Given the description of an element on the screen output the (x, y) to click on. 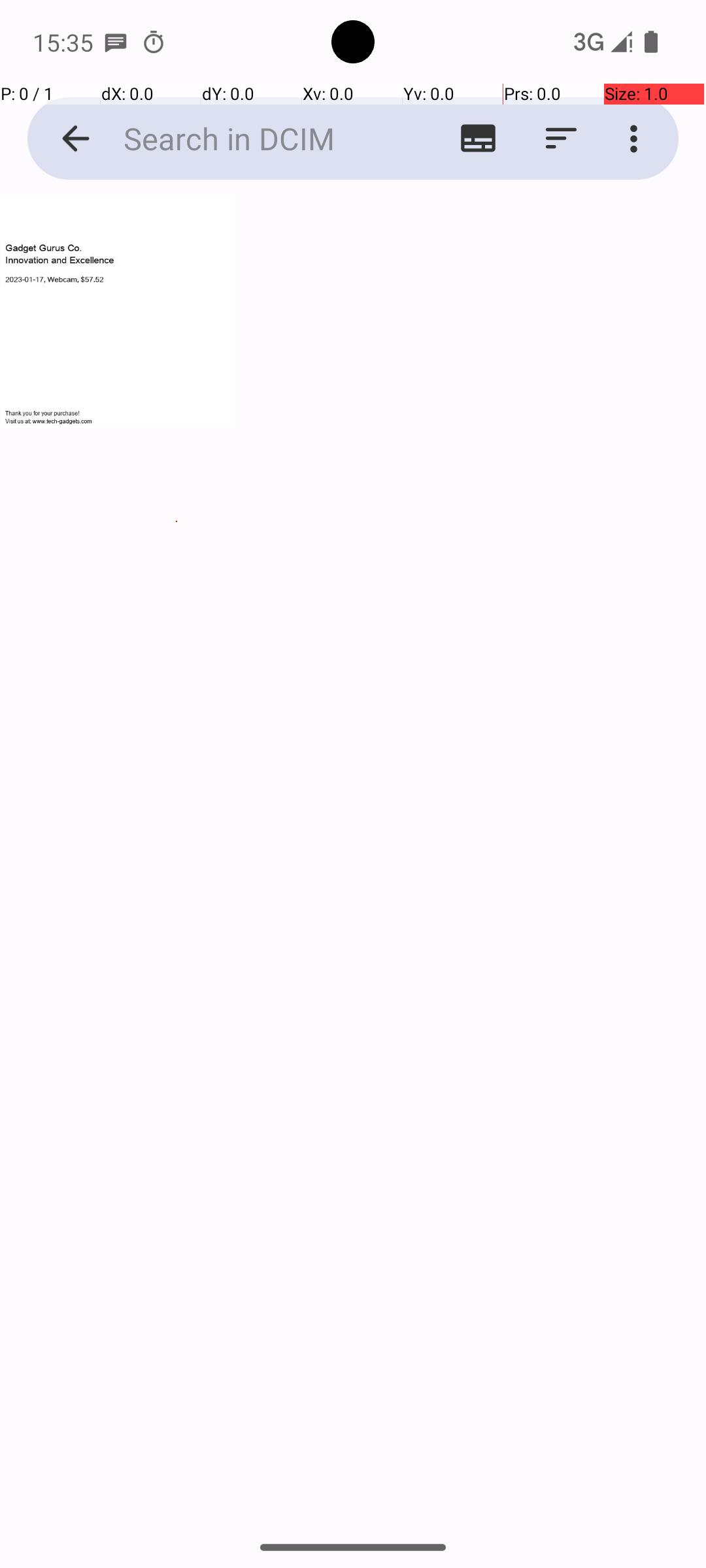
Search in DCIM Element type: android.widget.EditText (252, 138)
